Given the description of an element on the screen output the (x, y) to click on. 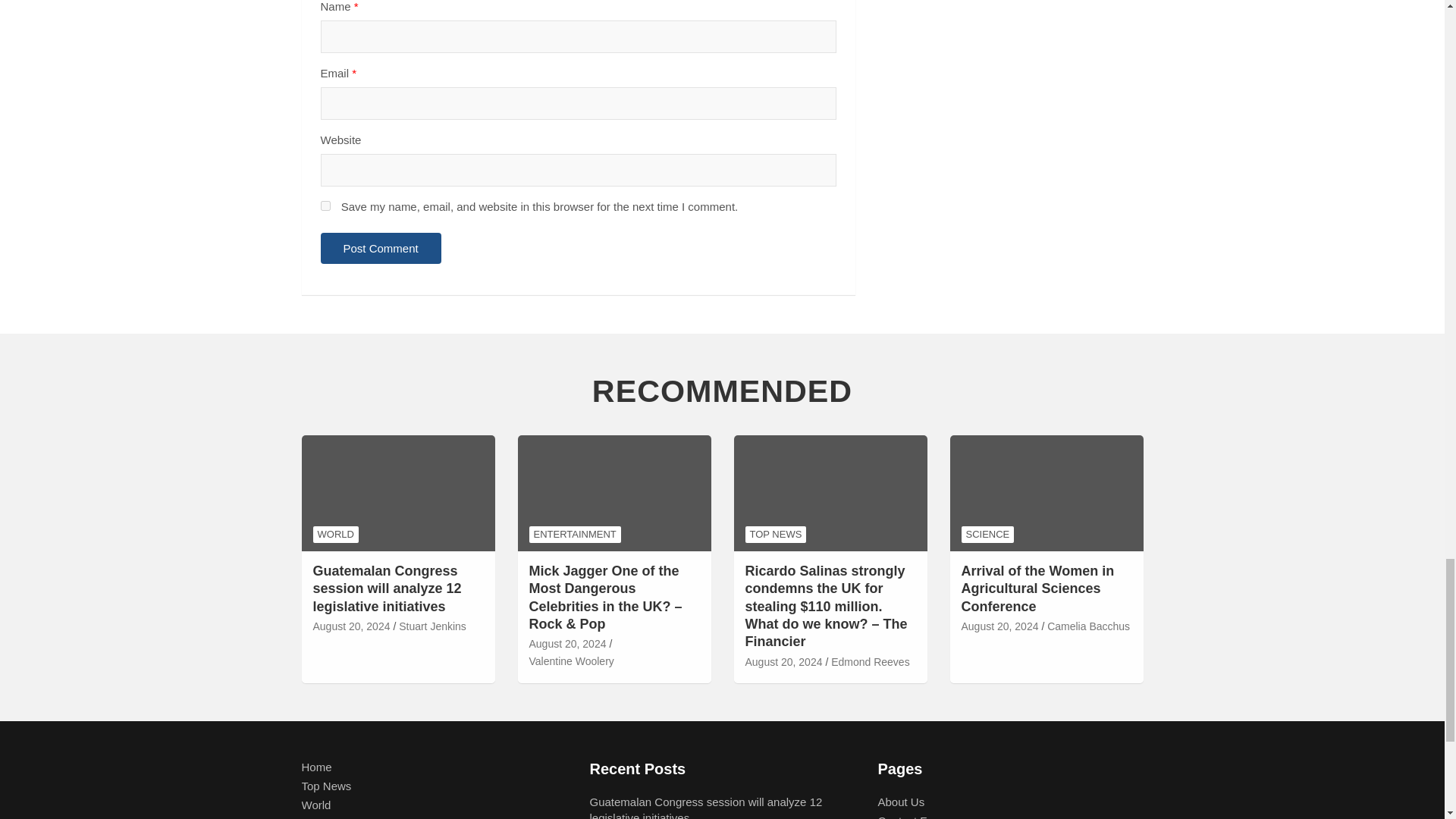
Post Comment (380, 247)
Arrival of the Women in Agricultural Sciences Conference (999, 626)
Post Comment (380, 247)
yes (325, 205)
